Given the description of an element on the screen output the (x, y) to click on. 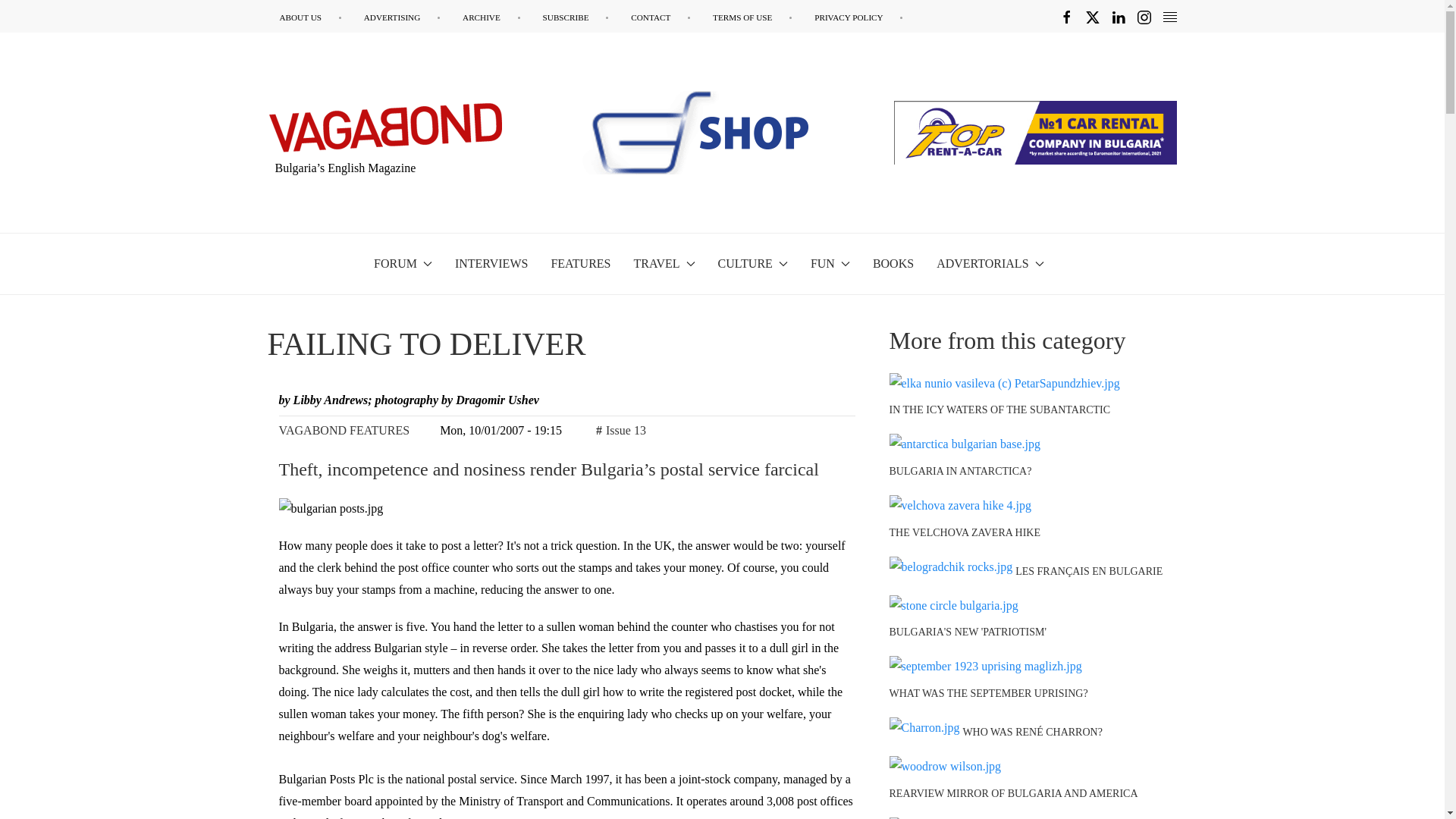
PRIVACY POLICY (857, 17)
SUBSCRIBE (575, 17)
TERMS OF USE (752, 17)
INTERVIEWS (490, 263)
TRAVEL (664, 263)
ABOUT US (309, 17)
ADVERTISING (401, 17)
toprentacar (1034, 131)
ARCHIVE (491, 17)
SUBSCRIBE (575, 17)
FEATURES (580, 263)
TERMS OF USE (752, 17)
CONTACT (660, 17)
FORUM (403, 263)
